Given the description of an element on the screen output the (x, y) to click on. 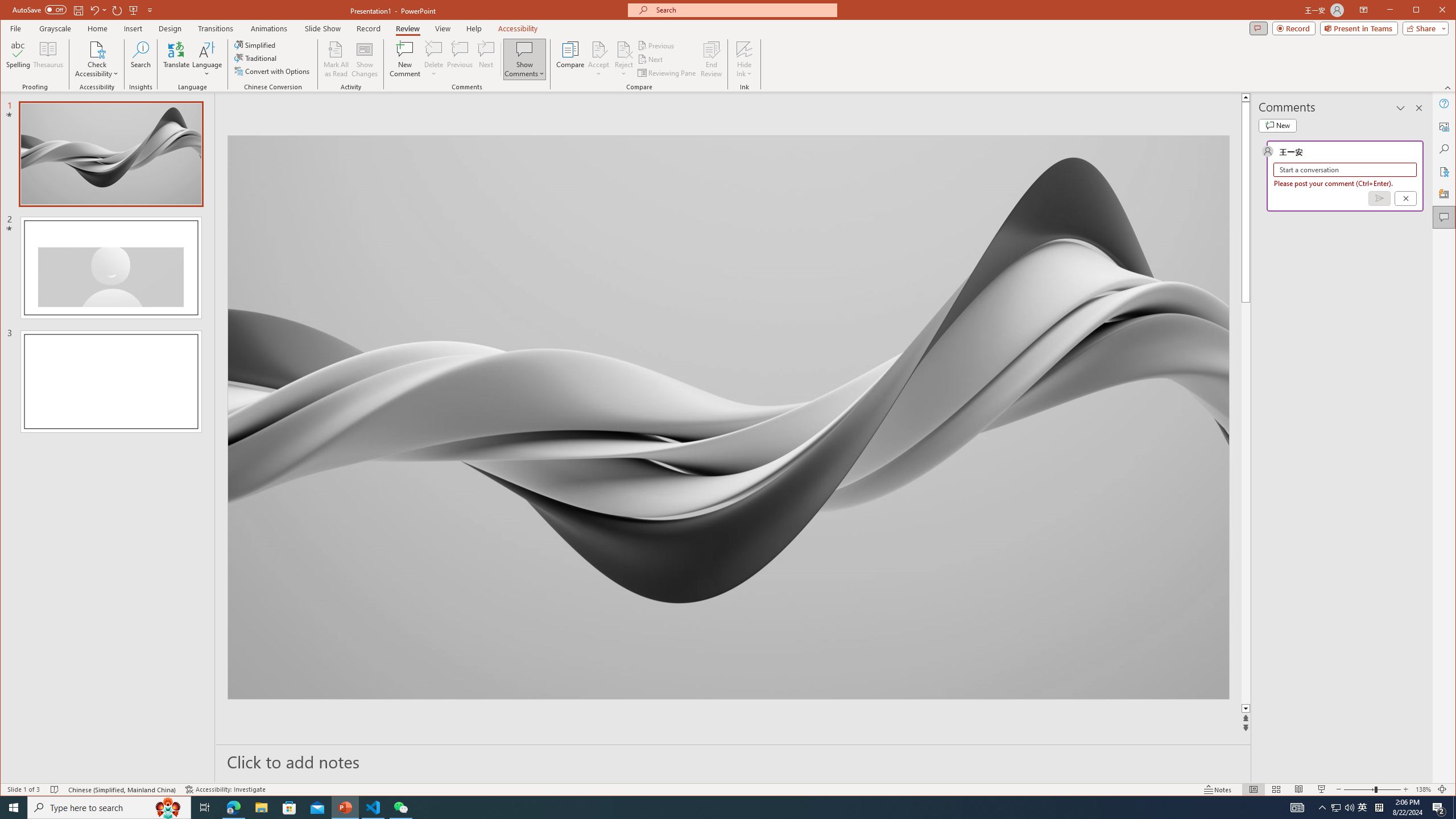
Mark All as Read (335, 59)
Compare (569, 59)
New Comment (405, 59)
Previous (657, 45)
